Given the description of an element on the screen output the (x, y) to click on. 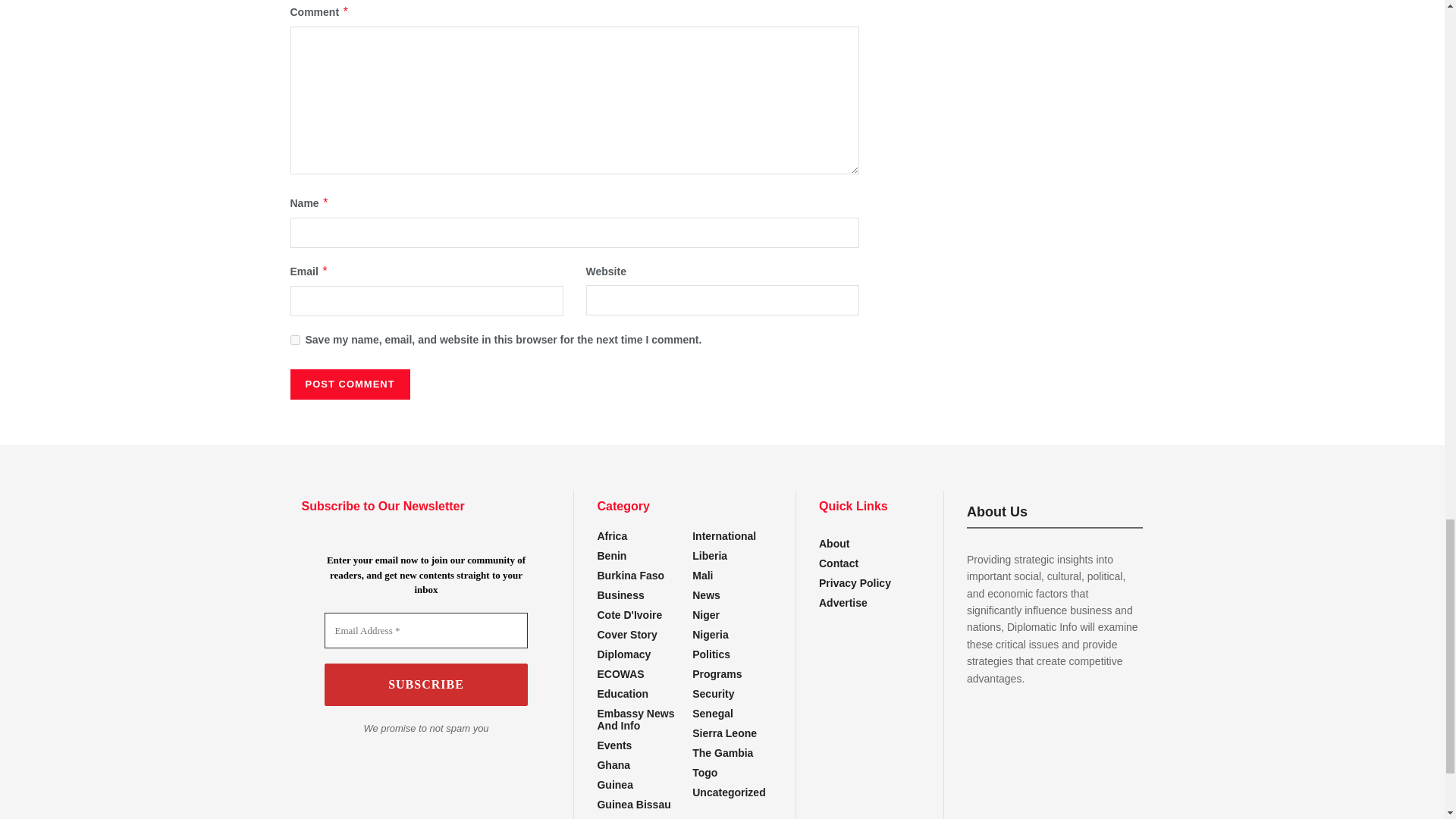
yes (294, 339)
Email Address (426, 630)
Subscribe (426, 684)
Post Comment (349, 384)
